Given the description of an element on the screen output the (x, y) to click on. 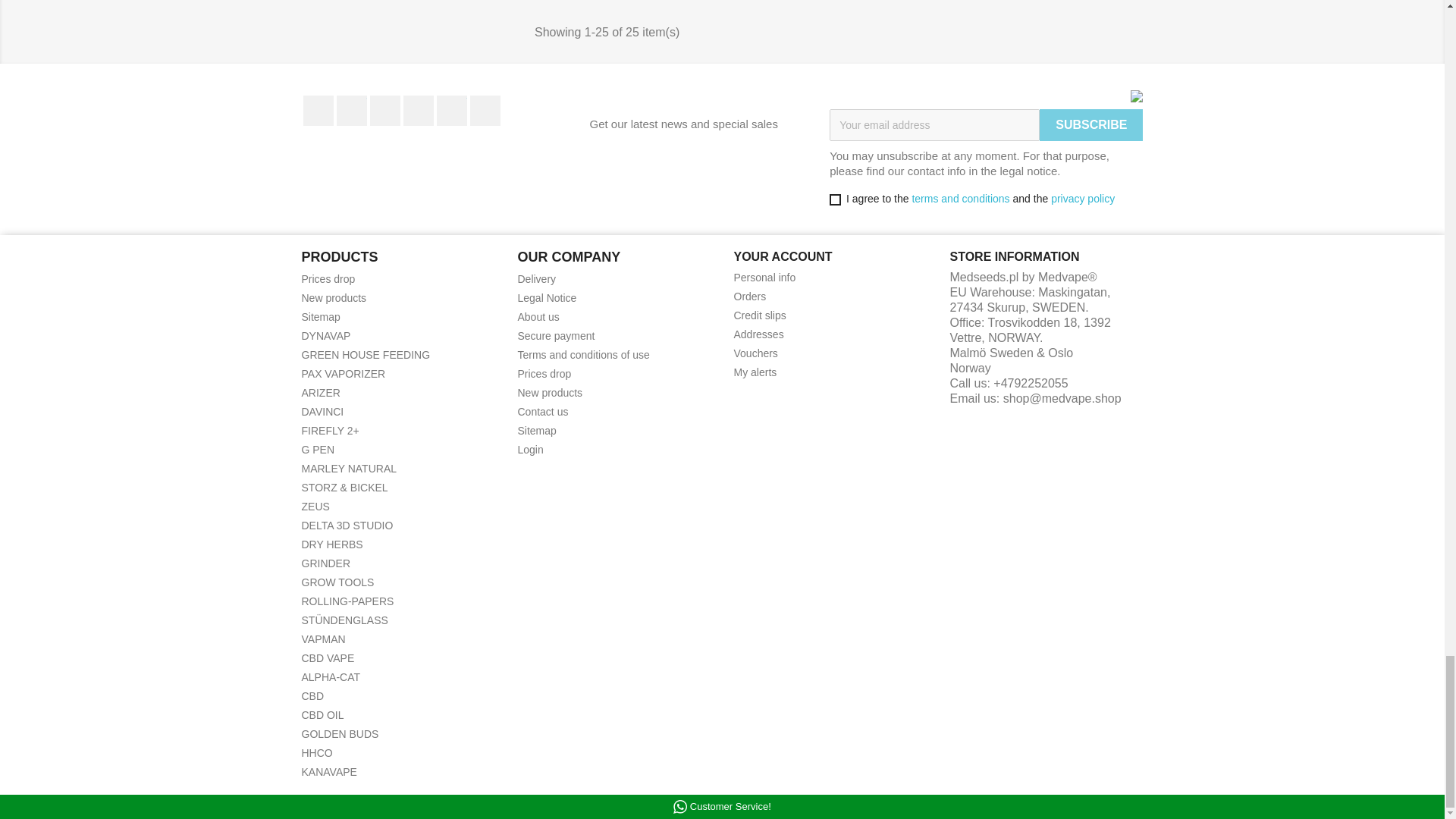
Our new products (333, 297)
Lost ? Find what your are looking for (320, 316)
Our special products (328, 278)
Subscribe (1090, 124)
